Given the description of an element on the screen output the (x, y) to click on. 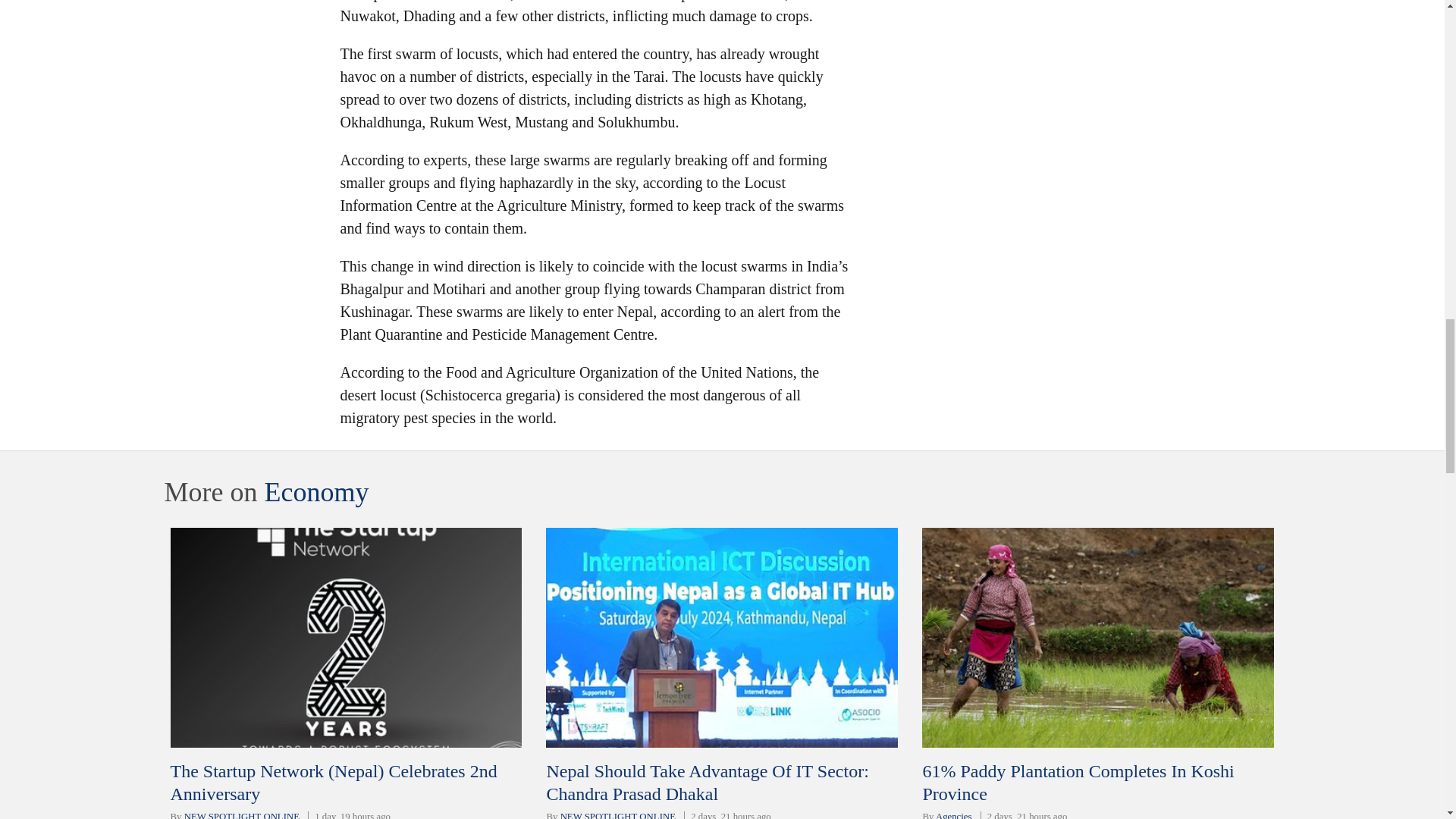
Economy (315, 491)
NEW SPOTLIGHT ONLINE (241, 815)
NEW SPOTLIGHT ONLINE (617, 815)
Agencies (954, 815)
